Given the description of an element on the screen output the (x, y) to click on. 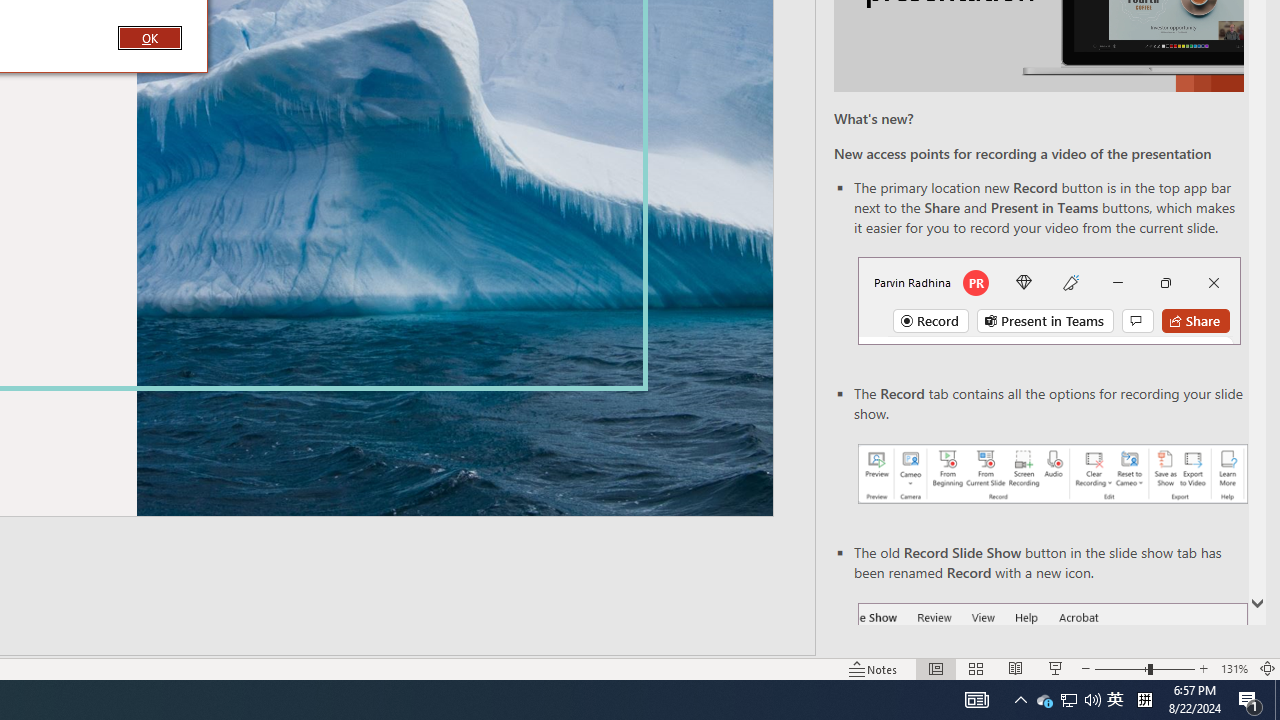
OK (149, 37)
Record your presentations screenshot one (1052, 473)
Zoom 131% (1234, 668)
Record button in top bar (1049, 300)
